Given the description of an element on the screen output the (x, y) to click on. 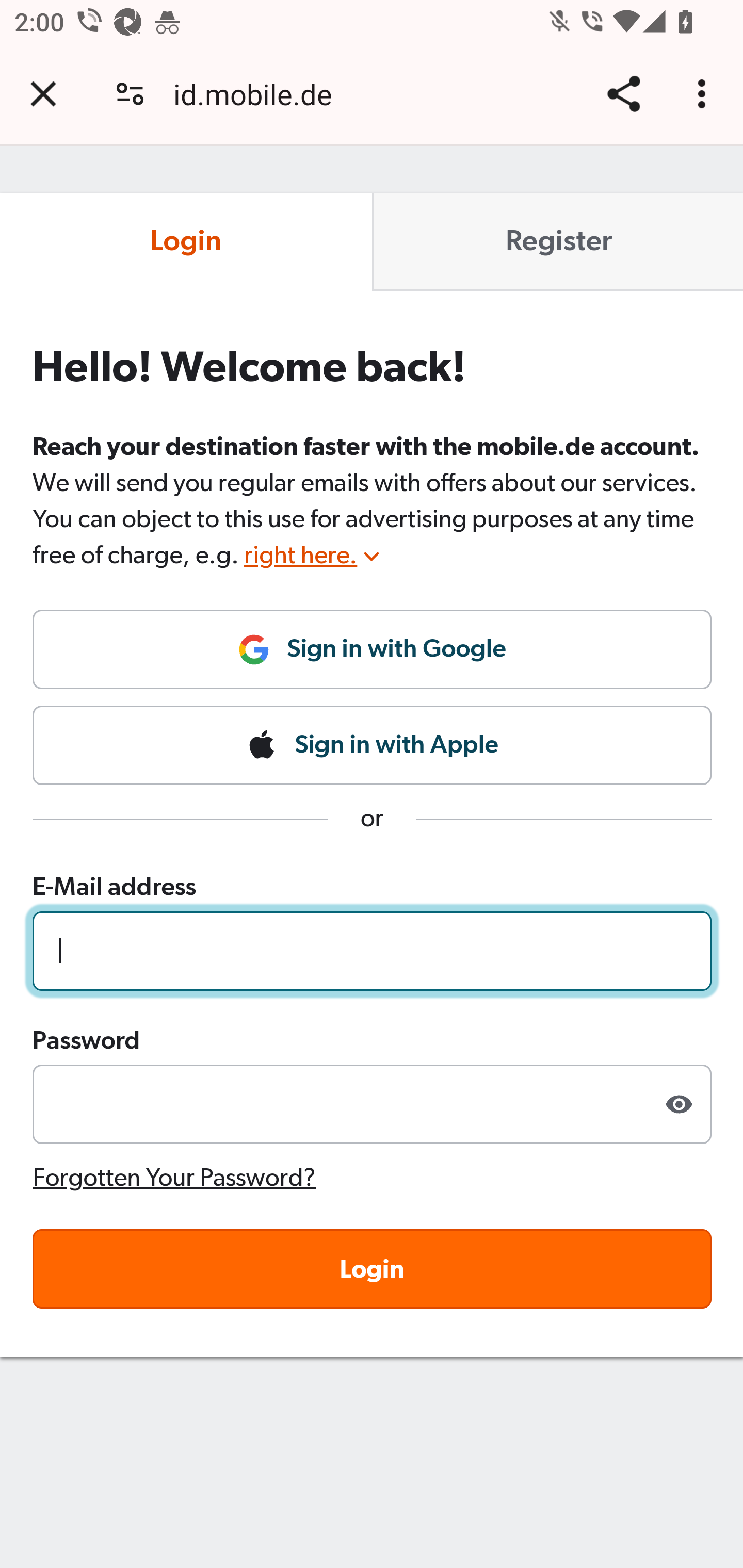
Close tab (43, 93)
Share (623, 93)
Customize and control Google Chrome (705, 93)
Connection is secure (129, 93)
id.mobile.de (259, 93)
Login (186, 242)
Register (557, 242)
Sign in with Google (372, 656)
Sign in with Apple (372, 744)
Forgotten Your Password? (175, 1177)
Login (372, 1268)
